Given the description of an element on the screen output the (x, y) to click on. 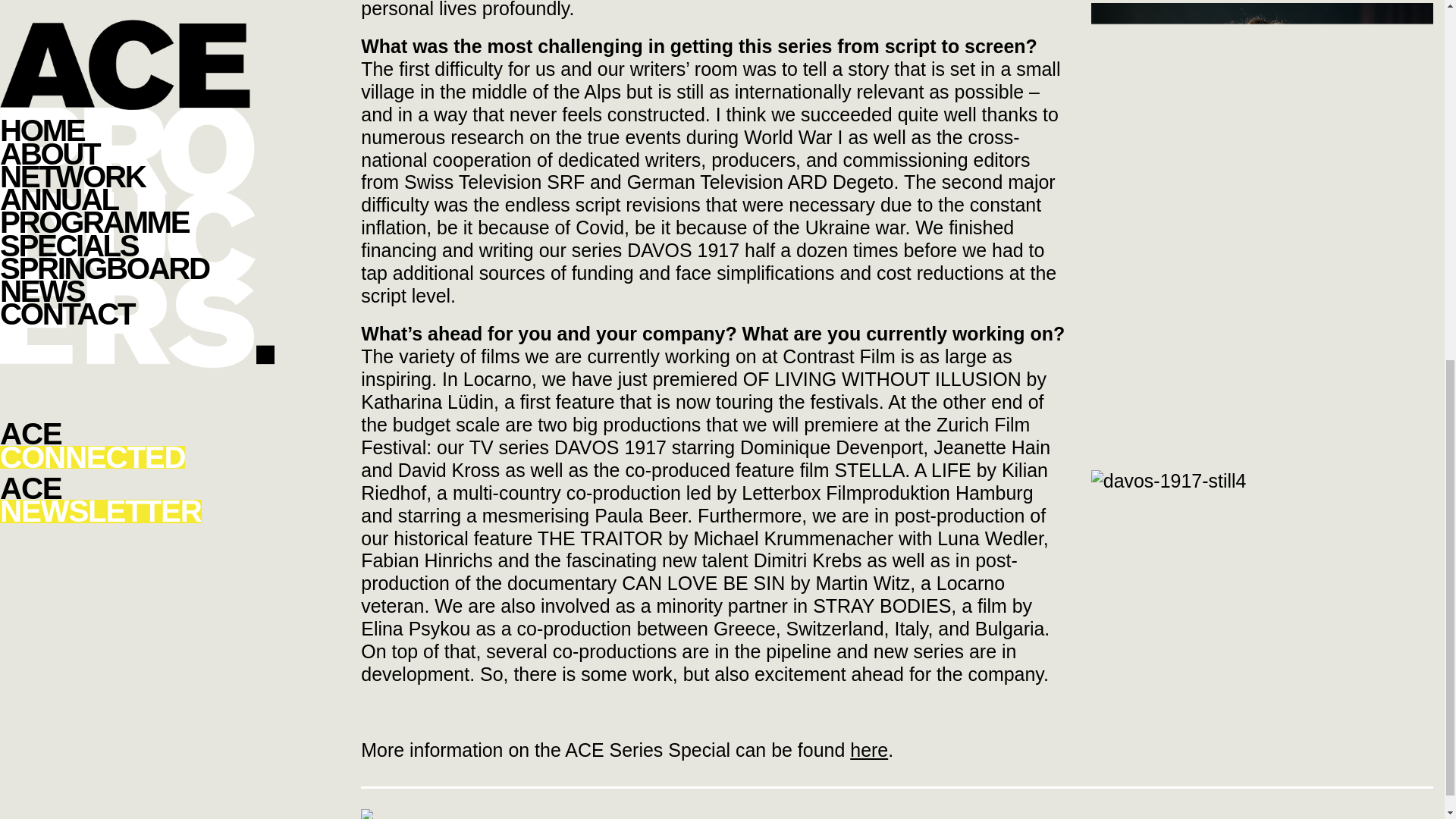
davos-1917-still4 (1168, 480)
here (869, 749)
davos-1917-still2 (1261, 224)
davos-1917-still3 (1261, 457)
davos-1917-still3 (1261, 350)
davos-1917-still4 (1168, 481)
davos-1917-still2 (1261, 116)
